Given the description of an element on the screen output the (x, y) to click on. 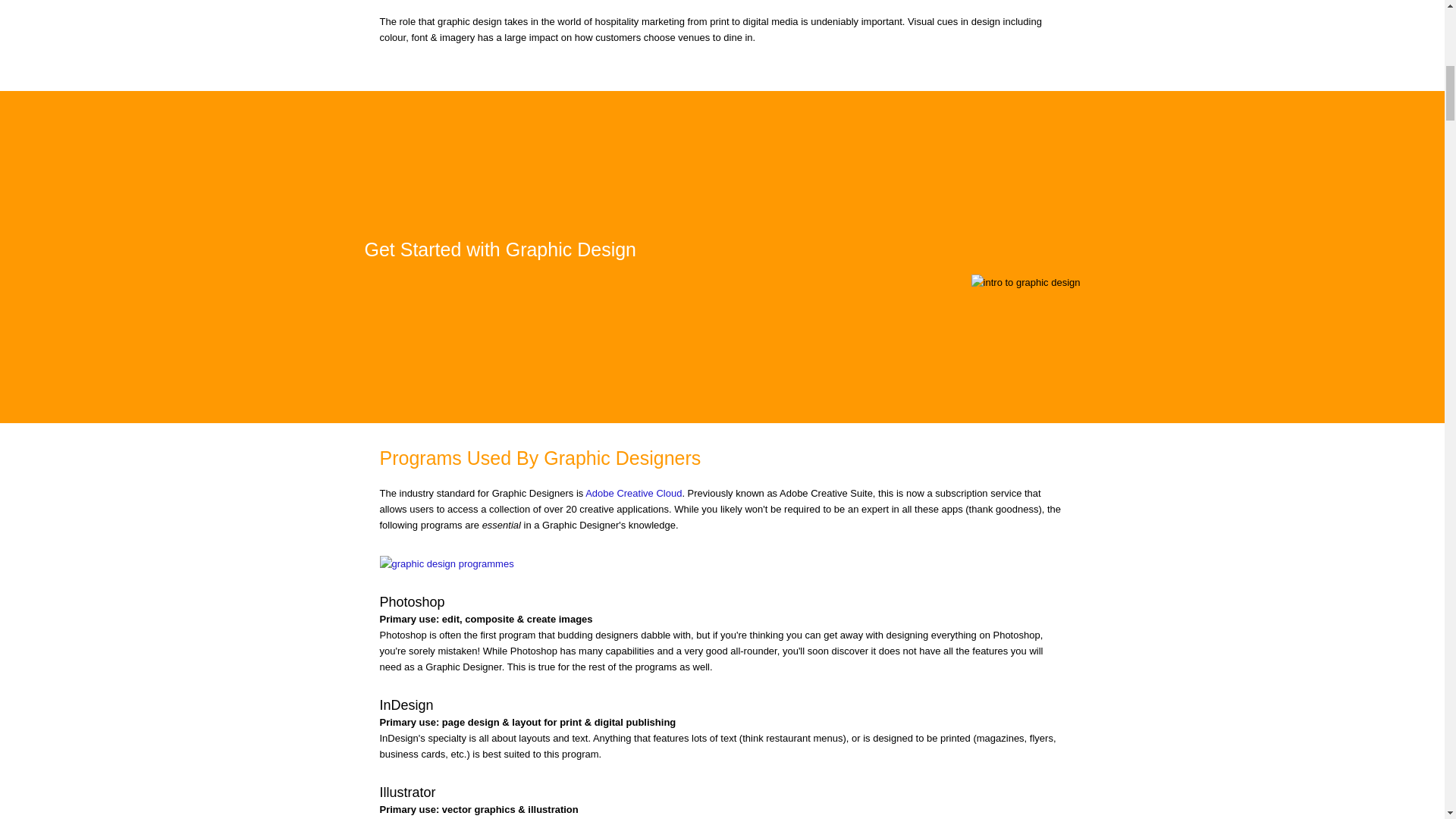
Adobe Creative Cloud (633, 492)
